Given the description of an element on the screen output the (x, y) to click on. 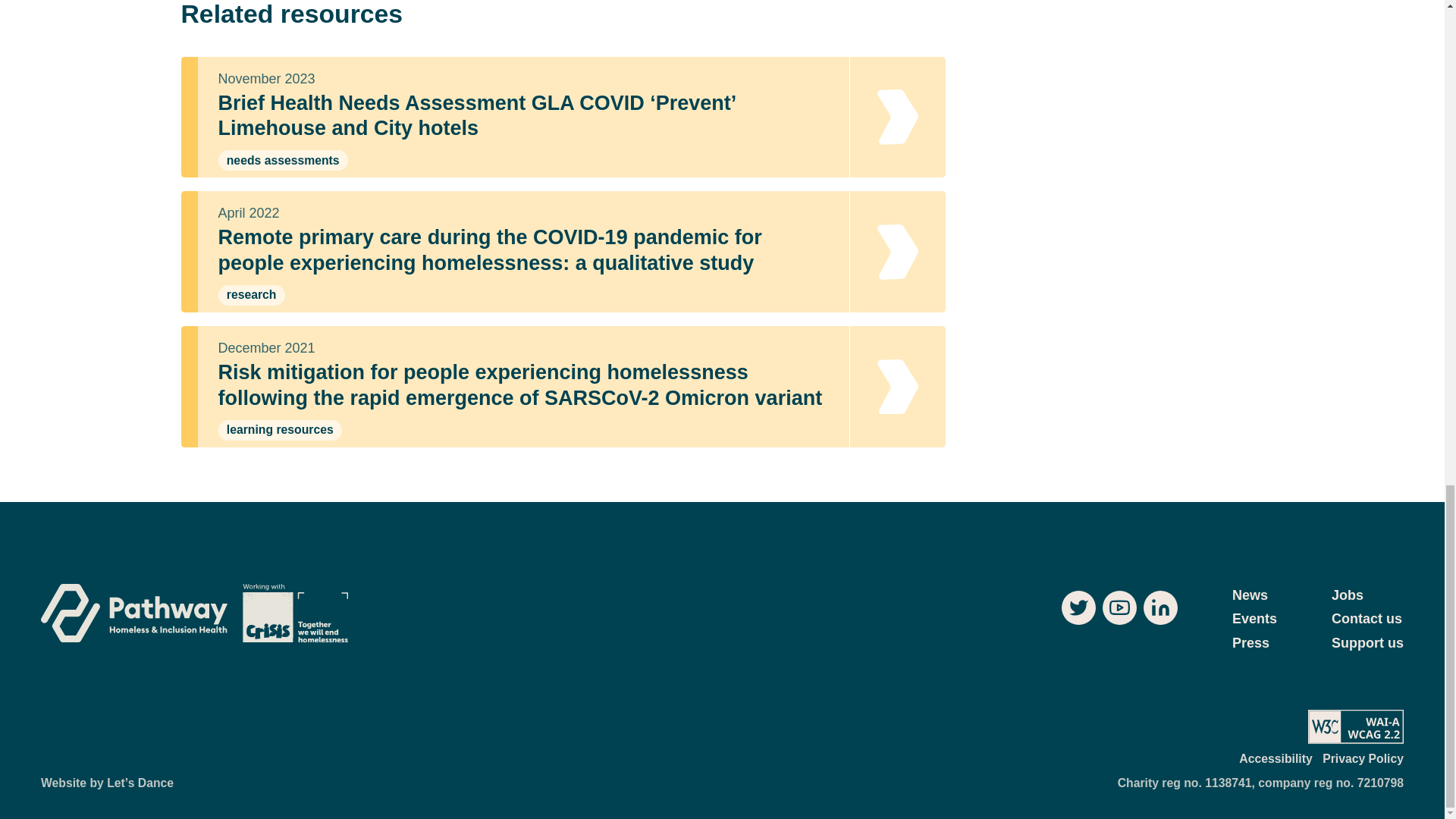
News (1249, 595)
Jobs (1347, 595)
Press (1250, 643)
Events (1253, 619)
Contact us (1367, 619)
Accessibility (1275, 759)
Privacy Policy (1362, 759)
Support us (1367, 643)
